Given the description of an element on the screen output the (x, y) to click on. 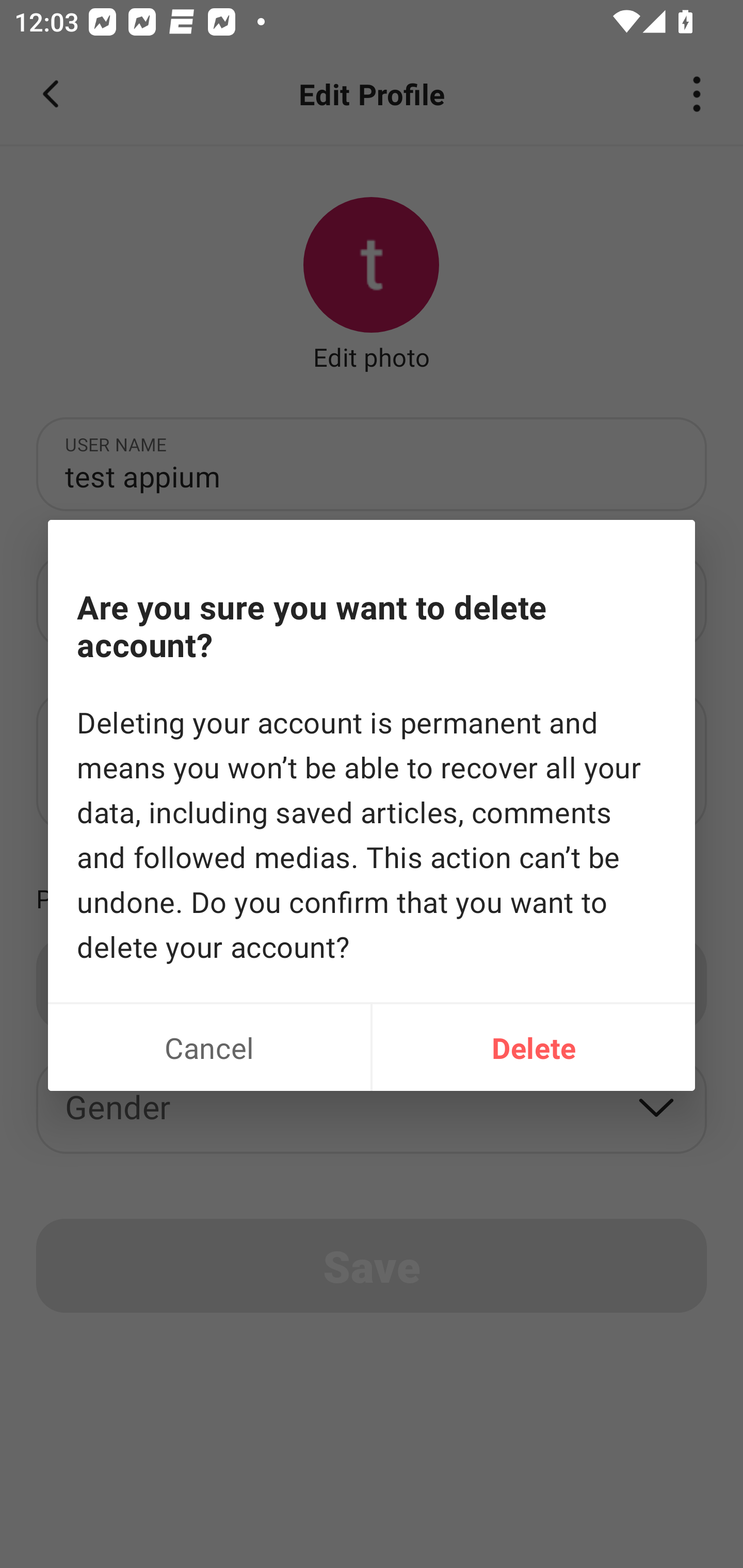
Cancel (209, 1047)
Delete (533, 1047)
